Given the description of an element on the screen output the (x, y) to click on. 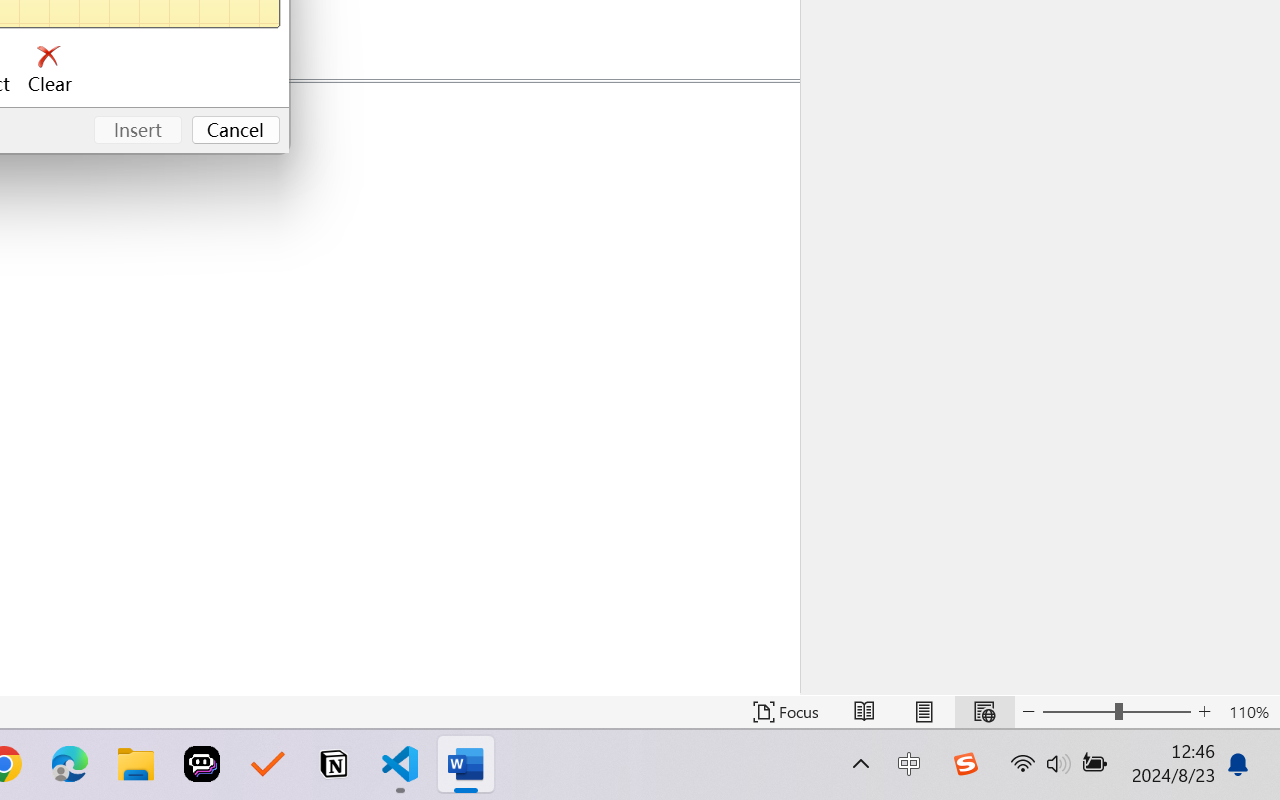
Cancel (235, 129)
